Given the description of an element on the screen output the (x, y) to click on. 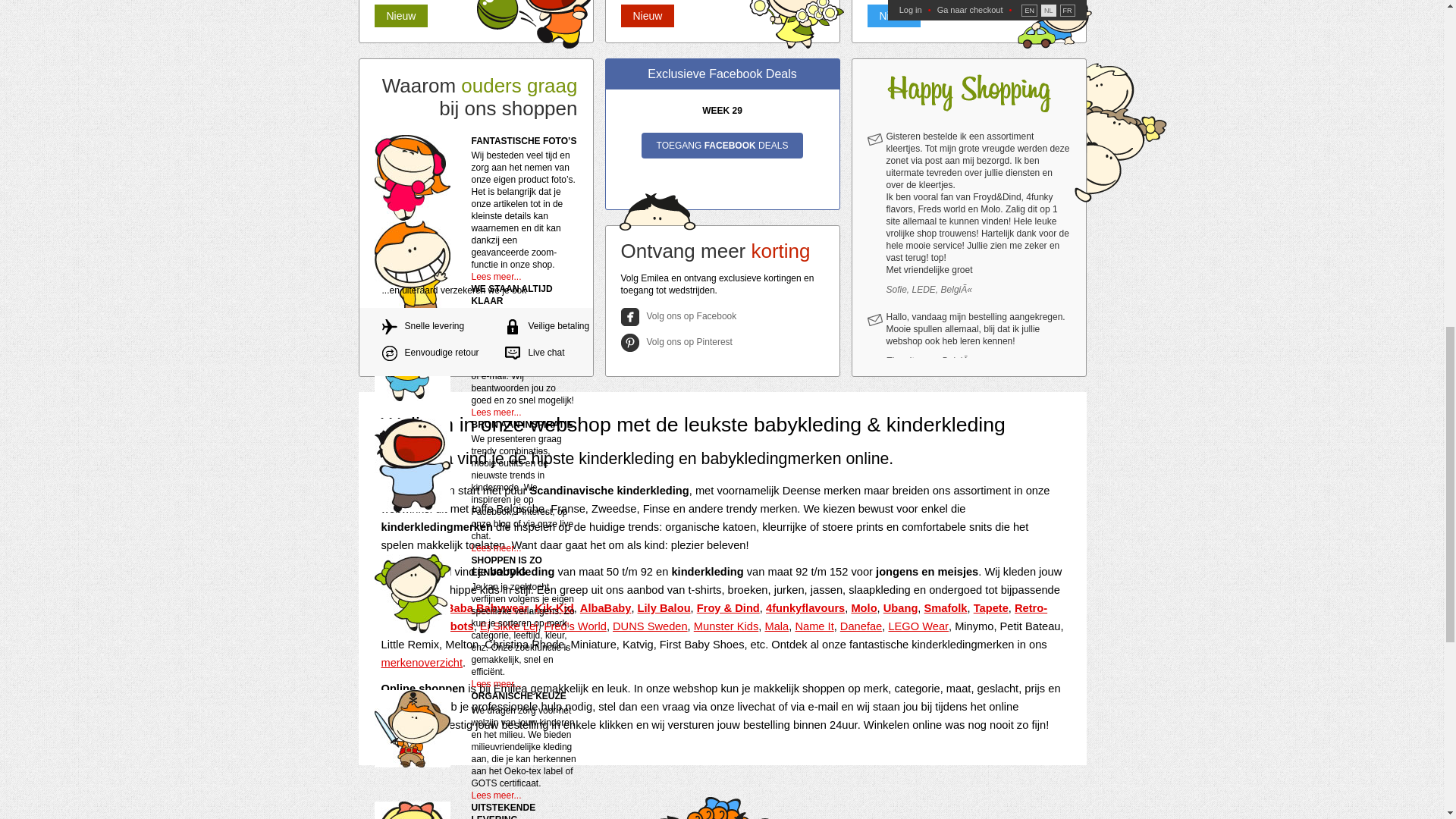
Nieuw (401, 15)
Lees meer... (496, 276)
Nieuw (647, 15)
Nieuw (894, 15)
